Given the description of an element on the screen output the (x, y) to click on. 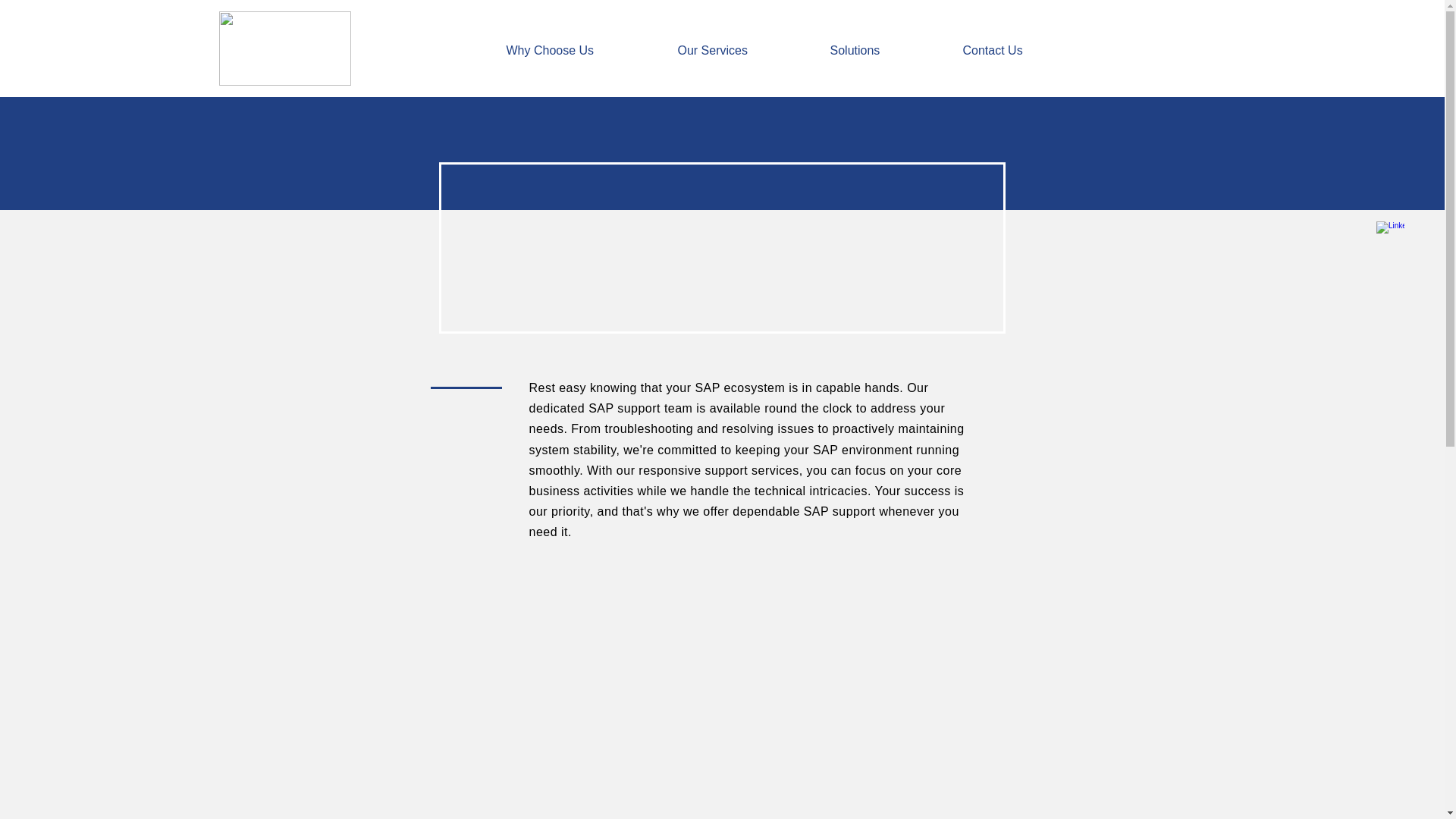
Why Choose Us (580, 50)
Our Services (741, 50)
Contact Us (1021, 50)
Solutions (885, 50)
